Given the description of an element on the screen output the (x, y) to click on. 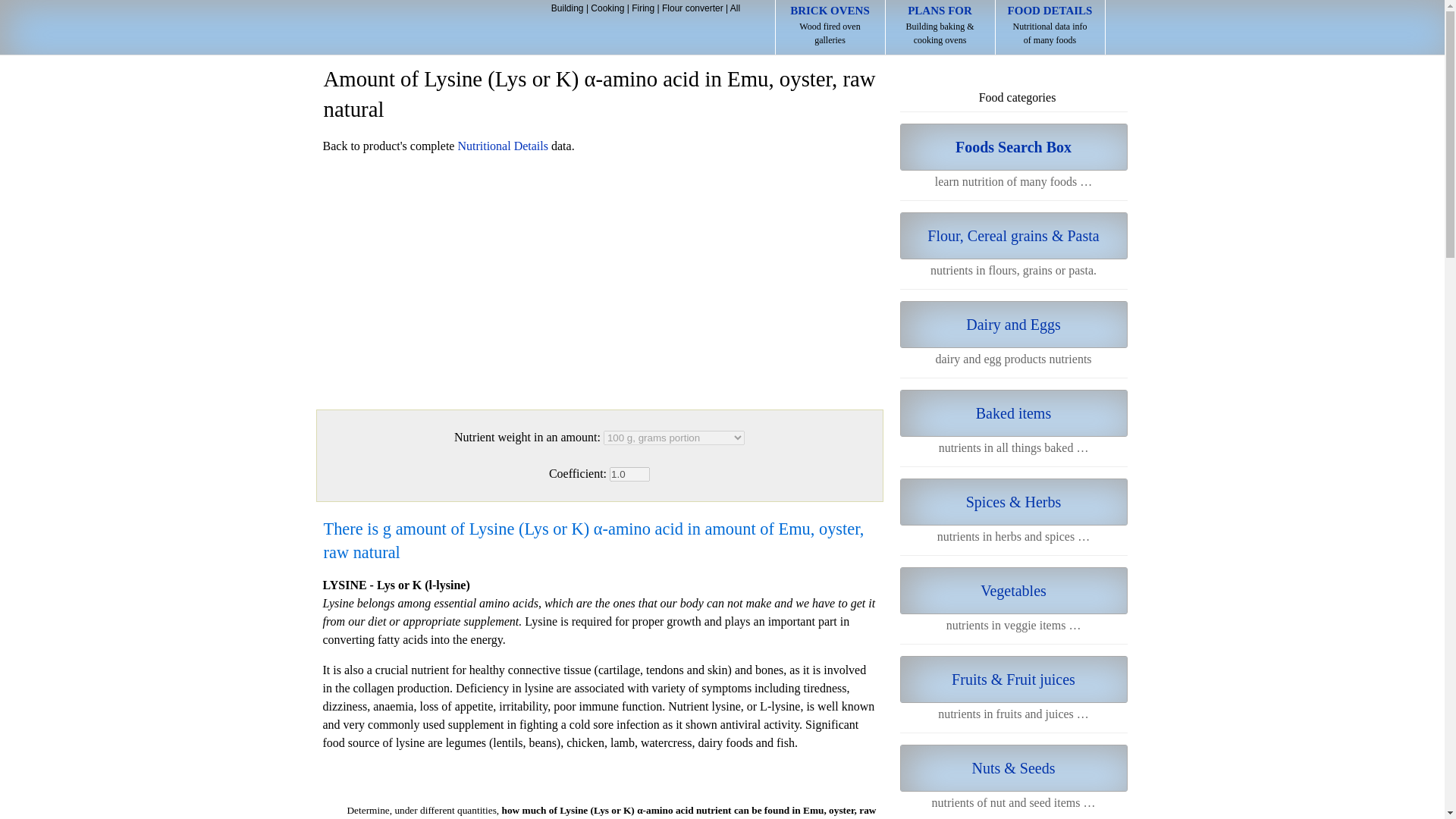
Building (567, 8)
Foods Search Box (1012, 146)
1.0 (629, 473)
Dairy and Eggs (1012, 324)
Nutritional Details (502, 145)
Firing (642, 8)
Home (411, 28)
All (734, 8)
Search for foods. (1012, 146)
Cooking (607, 8)
Baked items (829, 27)
Flour converter (1049, 27)
Vegetables (1012, 412)
